Given the description of an element on the screen output the (x, y) to click on. 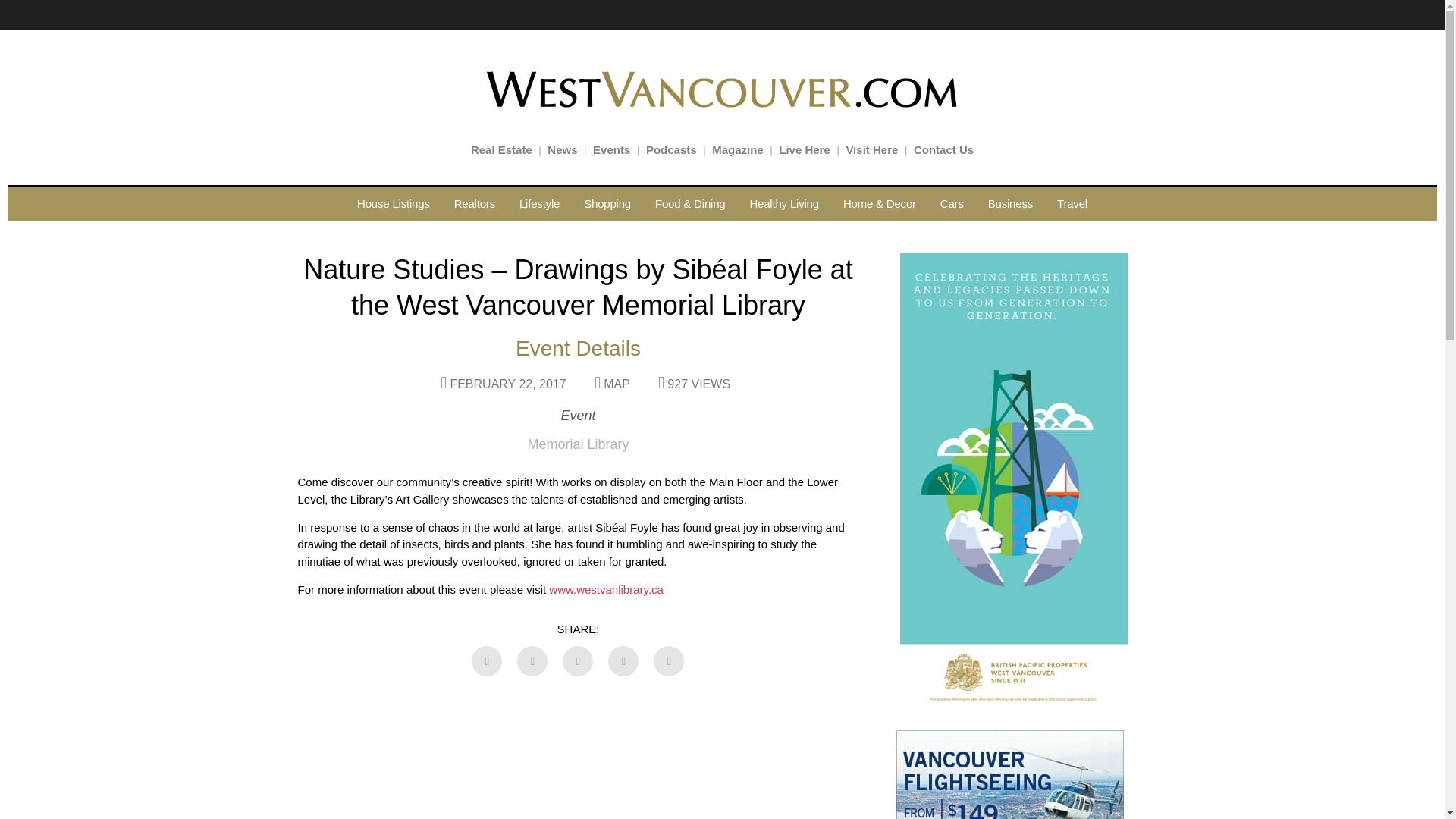
Shopping (607, 203)
Live Here (803, 149)
Podcasts (671, 149)
Realtors (474, 203)
House Listings (393, 203)
Visit Here (871, 149)
News (561, 149)
Contact Us (944, 149)
Healthy Living (782, 203)
Lifestyle (539, 203)
